Given the description of an element on the screen output the (x, y) to click on. 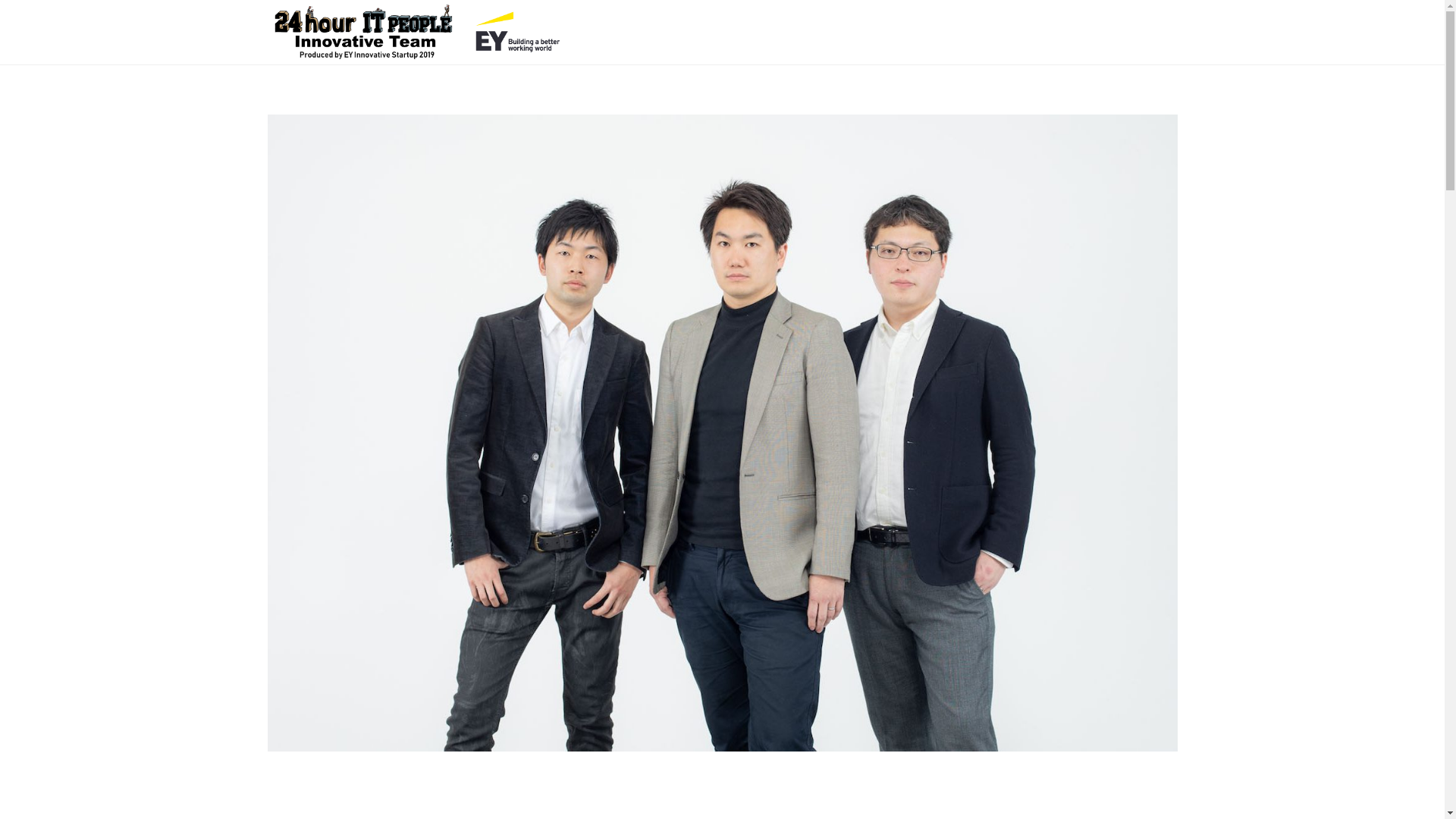
sonas2 Element type: hover (721, 432)
